Given the description of an element on the screen output the (x, y) to click on. 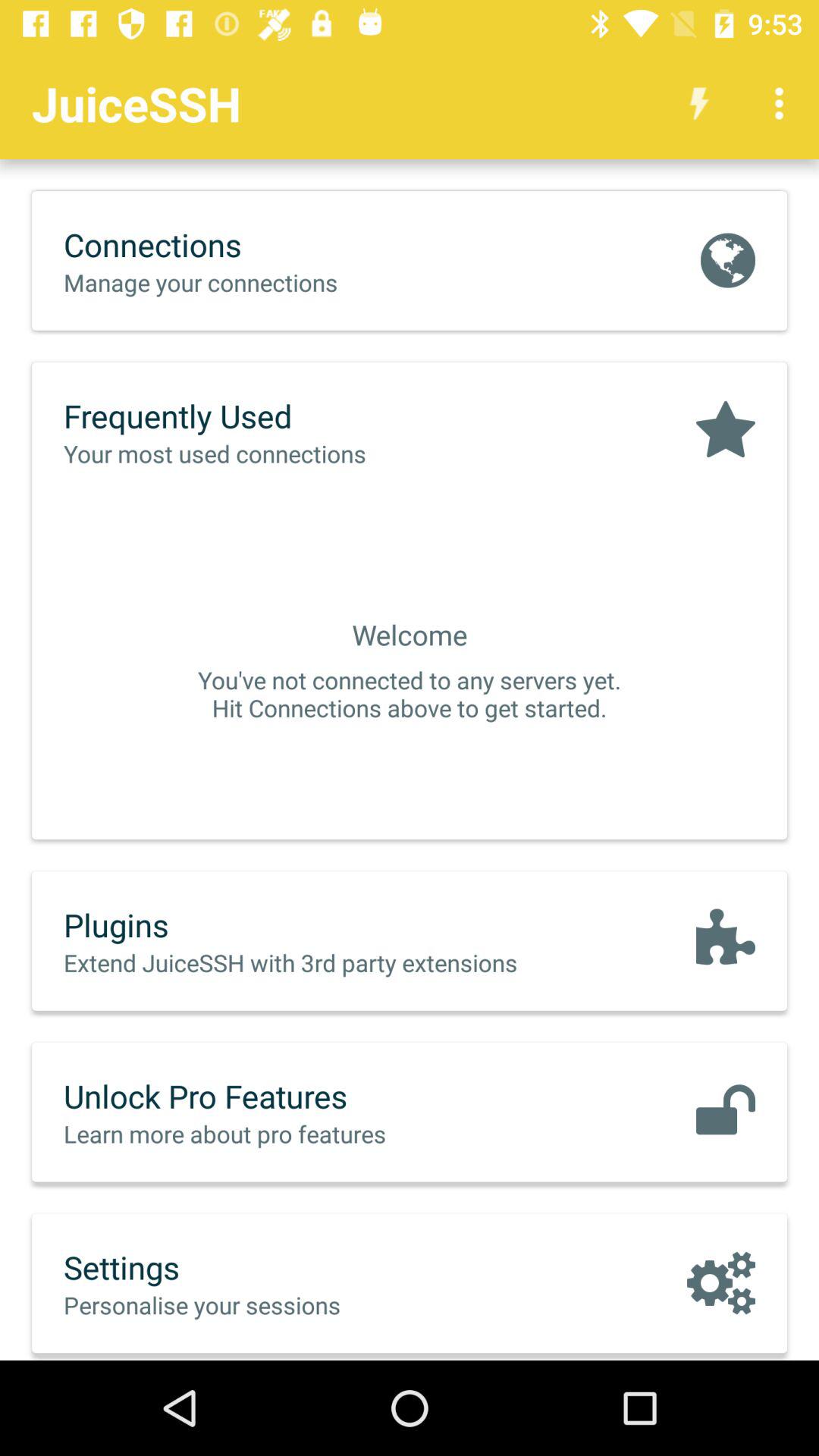
tap the icon next to connections item (727, 260)
